Given the description of an element on the screen output the (x, y) to click on. 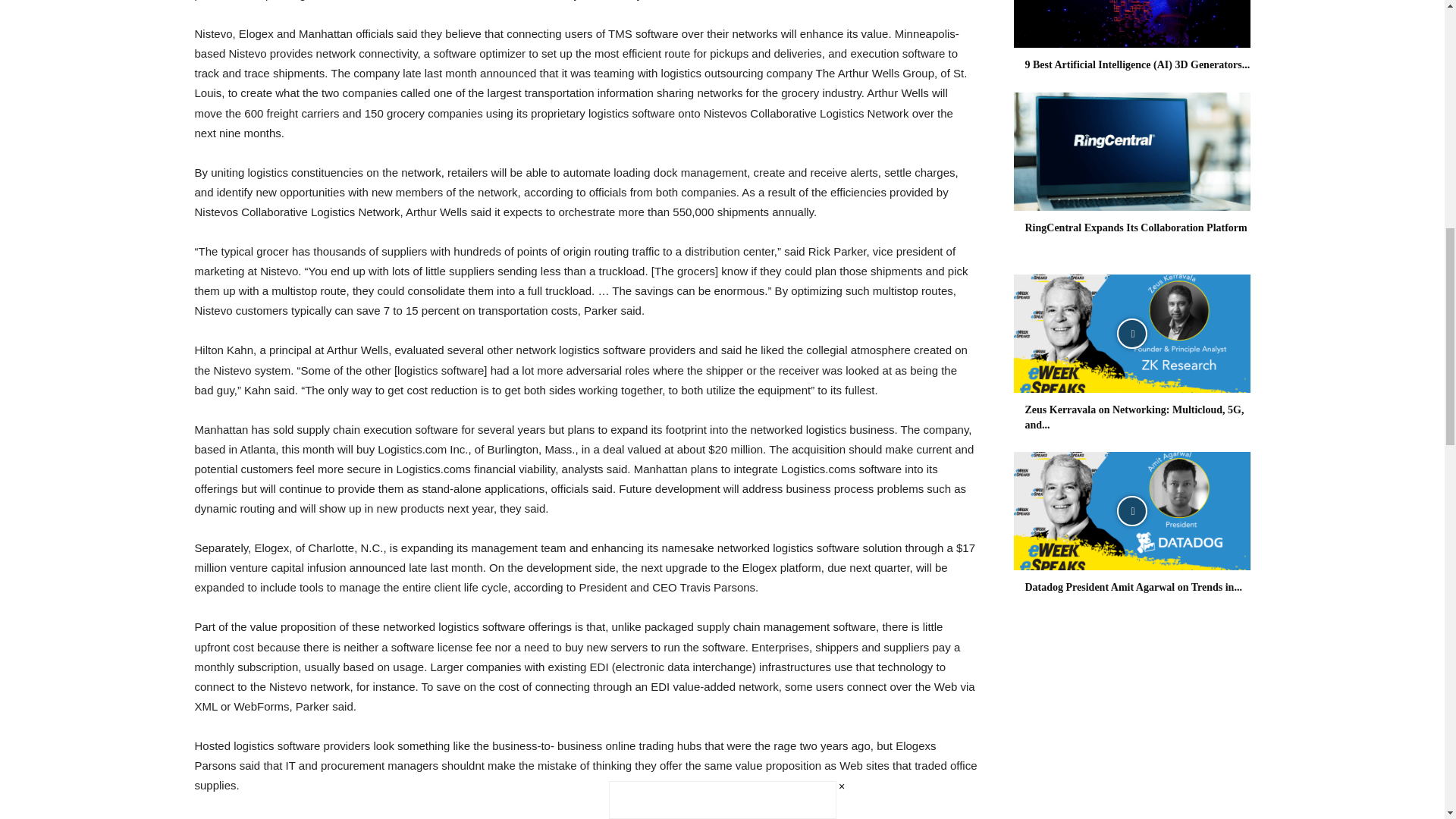
RingCentral Expands Its Collaboration Platform (1131, 151)
Zeus Kerravala on Networking: Multicloud, 5G, and Automation (1134, 417)
Zeus Kerravala on Networking: Multicloud, 5G, and Automation (1131, 333)
RingCentral Expands Its Collaboration Platform (1136, 227)
